Given the description of an element on the screen output the (x, y) to click on. 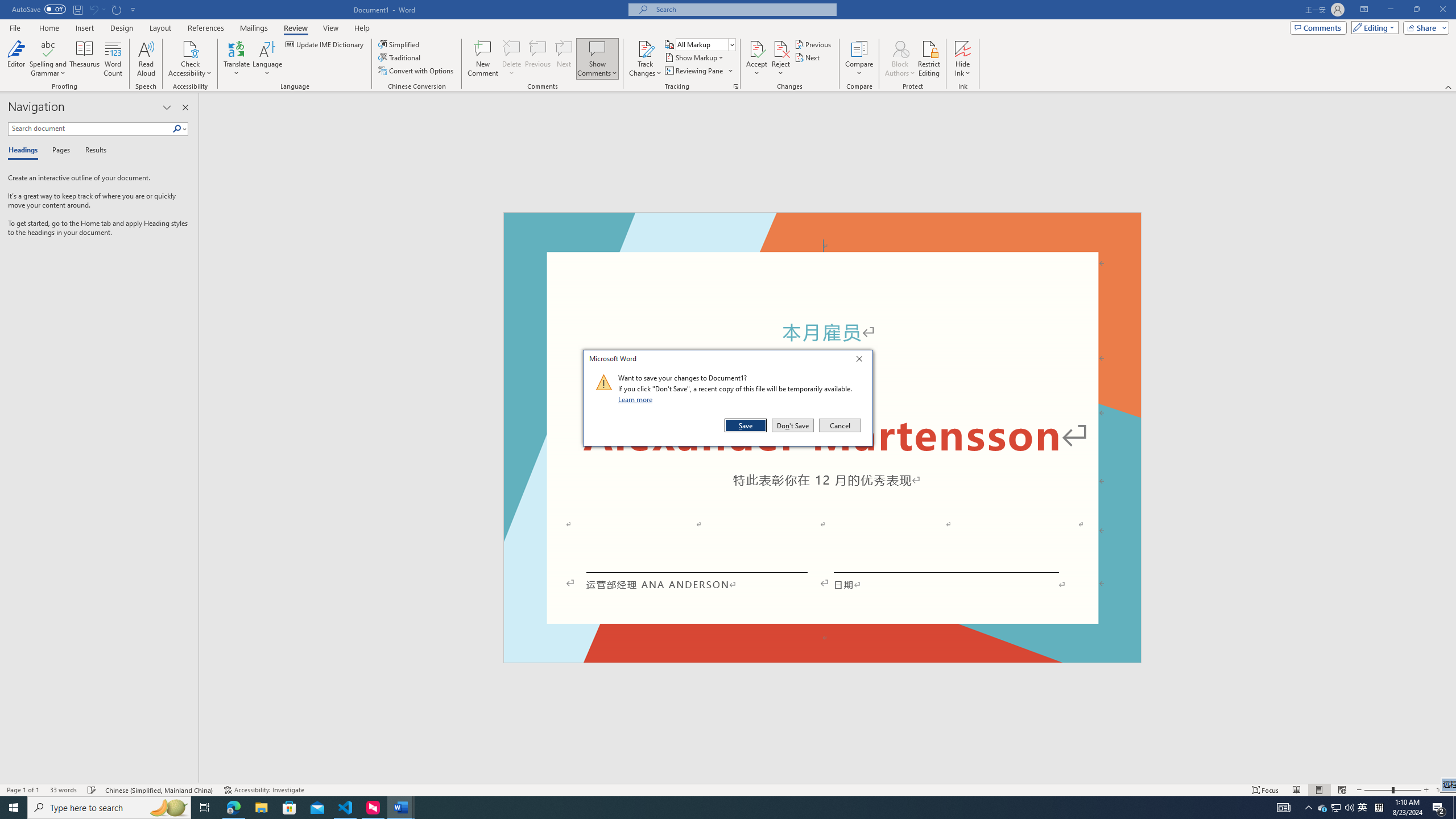
Editor (16, 58)
Delete (511, 48)
Help (361, 28)
Focus  (1265, 790)
Word - 2 running windows (400, 807)
Zoom (1392, 790)
Start (13, 807)
Translate (236, 58)
Zoom In (1426, 790)
Accept and Move to Next (756, 48)
Show Comments (597, 48)
Accessibility Checker Accessibility: Investigate (263, 790)
Layout (160, 28)
